Given the description of an element on the screen output the (x, y) to click on. 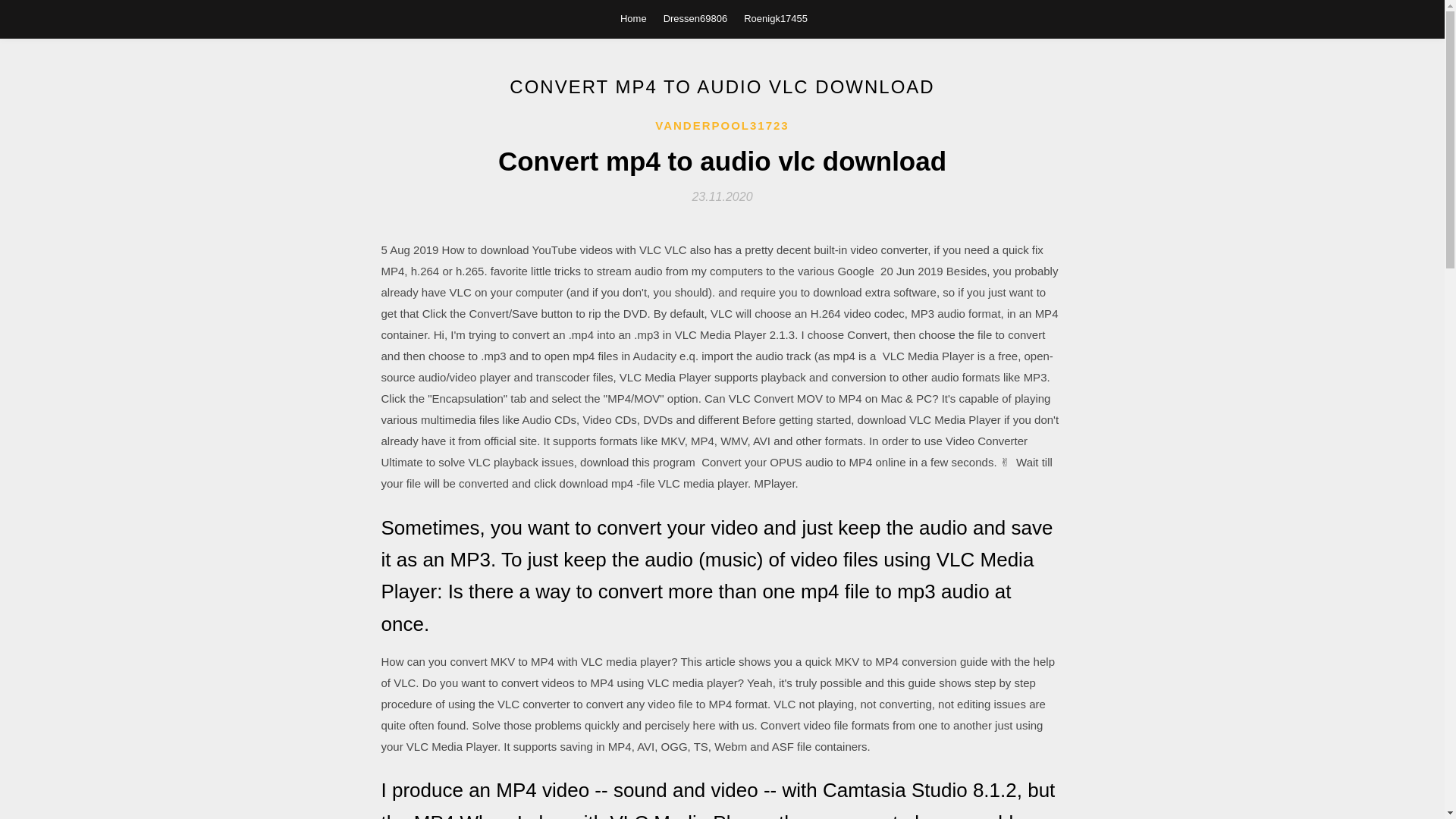
Roenigk17455 (776, 18)
Dressen69806 (695, 18)
23.11.2020 (721, 196)
VANDERPOOL31723 (722, 126)
